Given the description of an element on the screen output the (x, y) to click on. 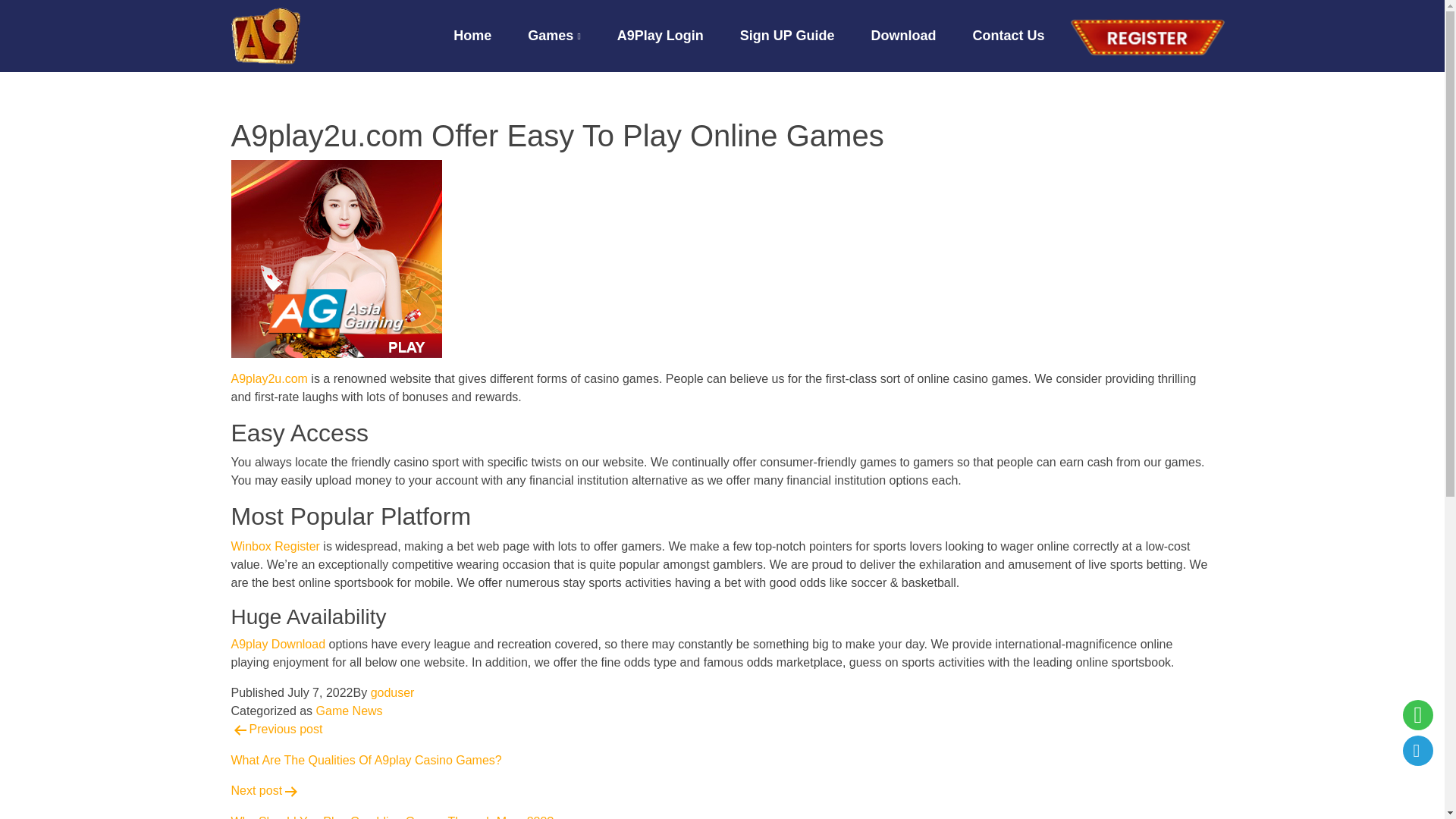
Games (571, 36)
Download (921, 36)
Home (489, 36)
goduser (721, 744)
Winbox Register (392, 692)
Contact Us (274, 545)
A9play Download (1026, 36)
A9Play Login (277, 644)
